Given the description of an element on the screen output the (x, y) to click on. 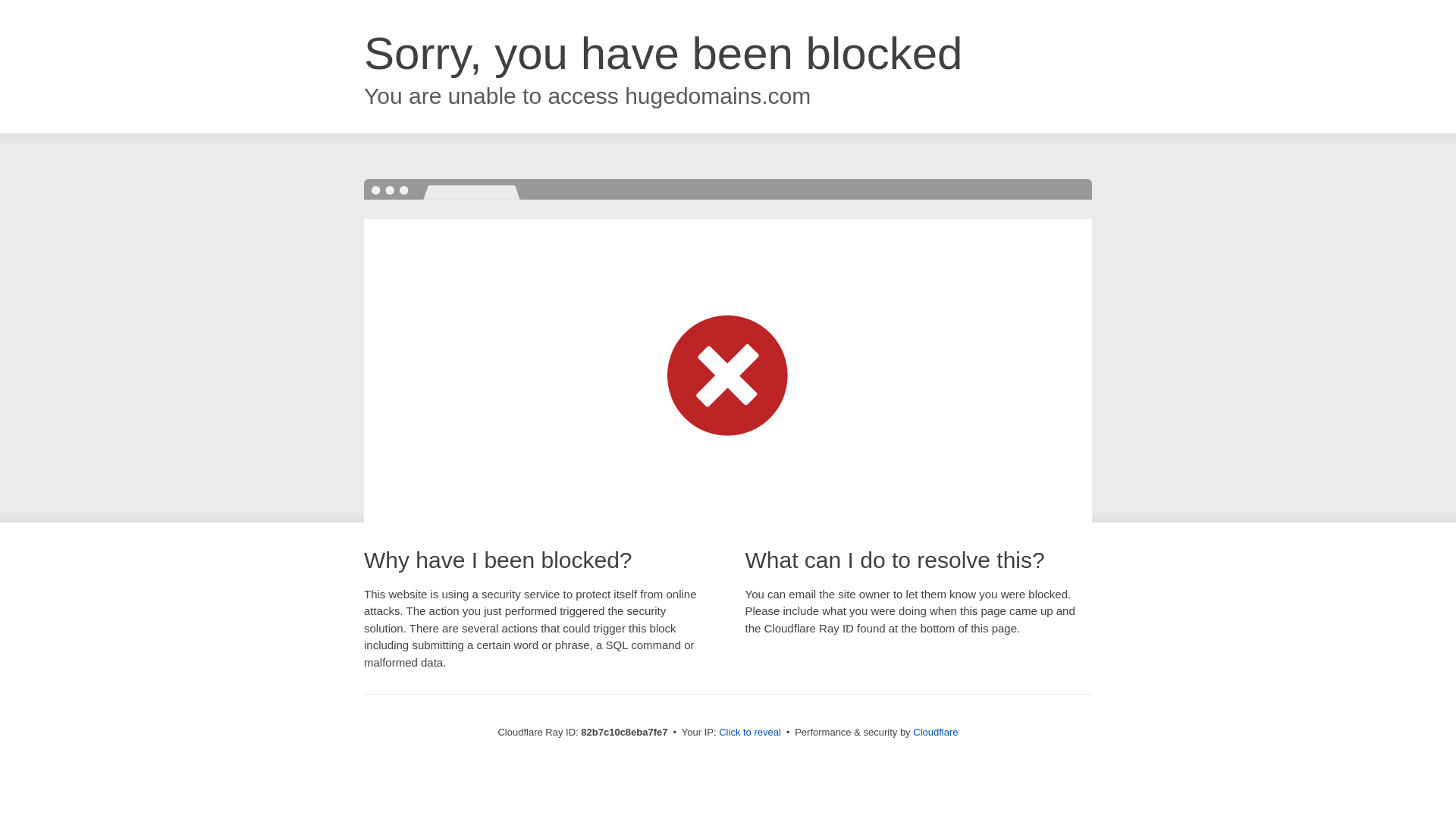
Click to reveal Element type: text (749, 732)
Cloudflare Element type: text (935, 731)
